Given the description of an element on the screen output the (x, y) to click on. 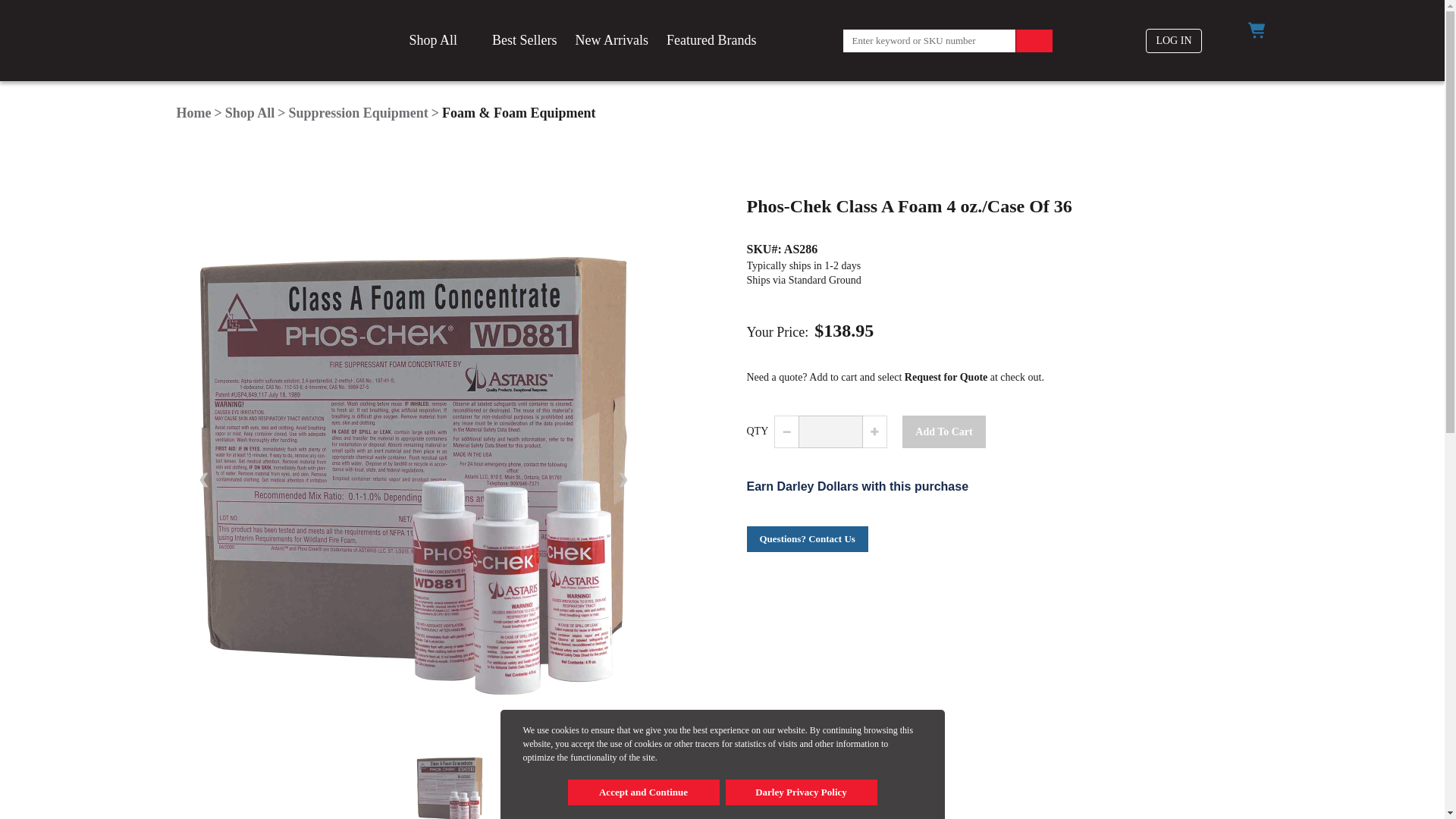
Click to open the "Shopping Cart" (1255, 30)
Search (1034, 40)
Darley Privacy Policy (800, 792)
Suppression Equipment (358, 112)
Accept and Continue (643, 792)
Best Sellers (524, 40)
New Arrivals (612, 40)
Featured Brands (711, 40)
Best Sellers (524, 40)
Home (193, 112)
